Given the description of an element on the screen output the (x, y) to click on. 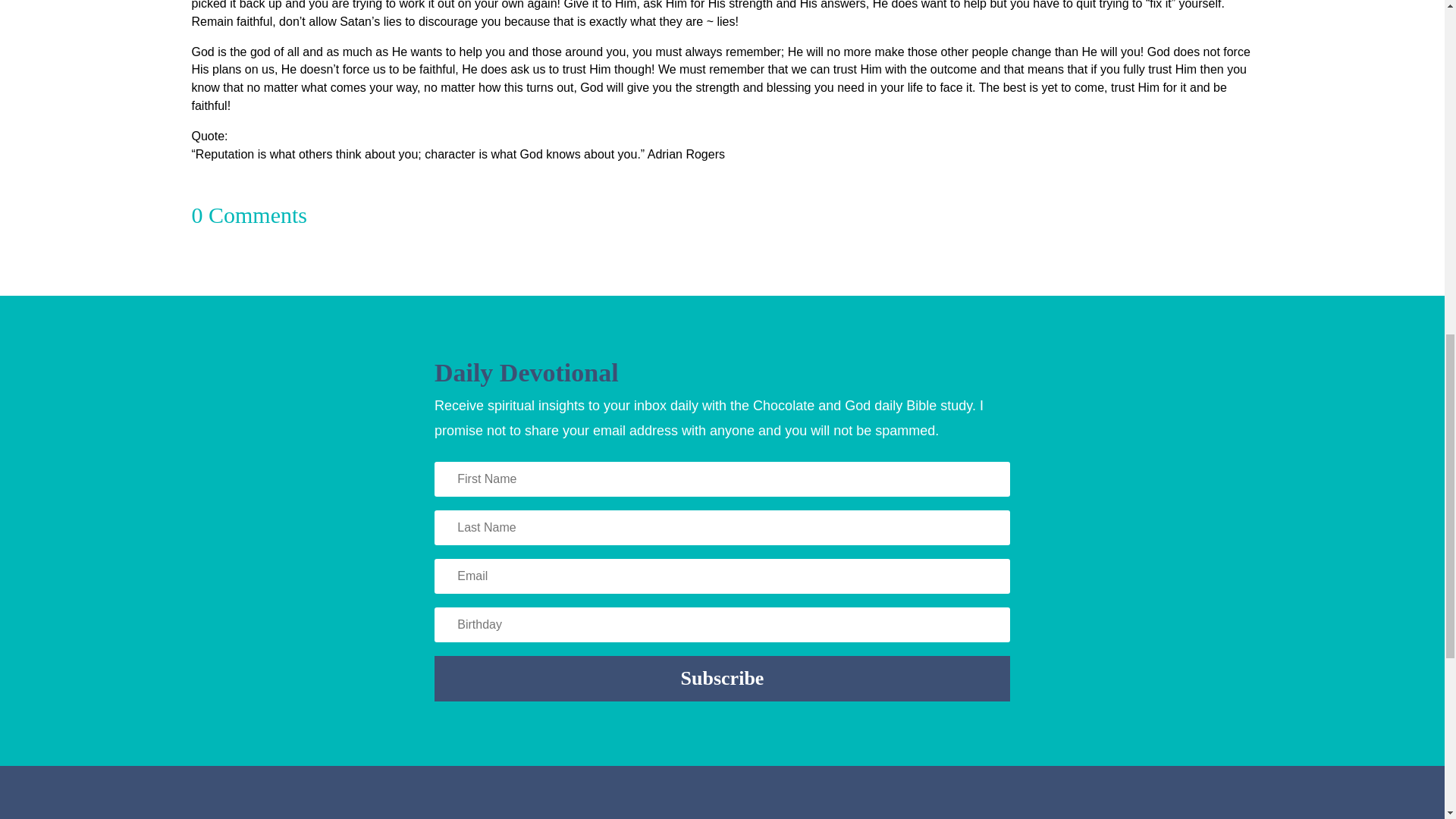
Subscribe (721, 678)
